Given the description of an element on the screen output the (x, y) to click on. 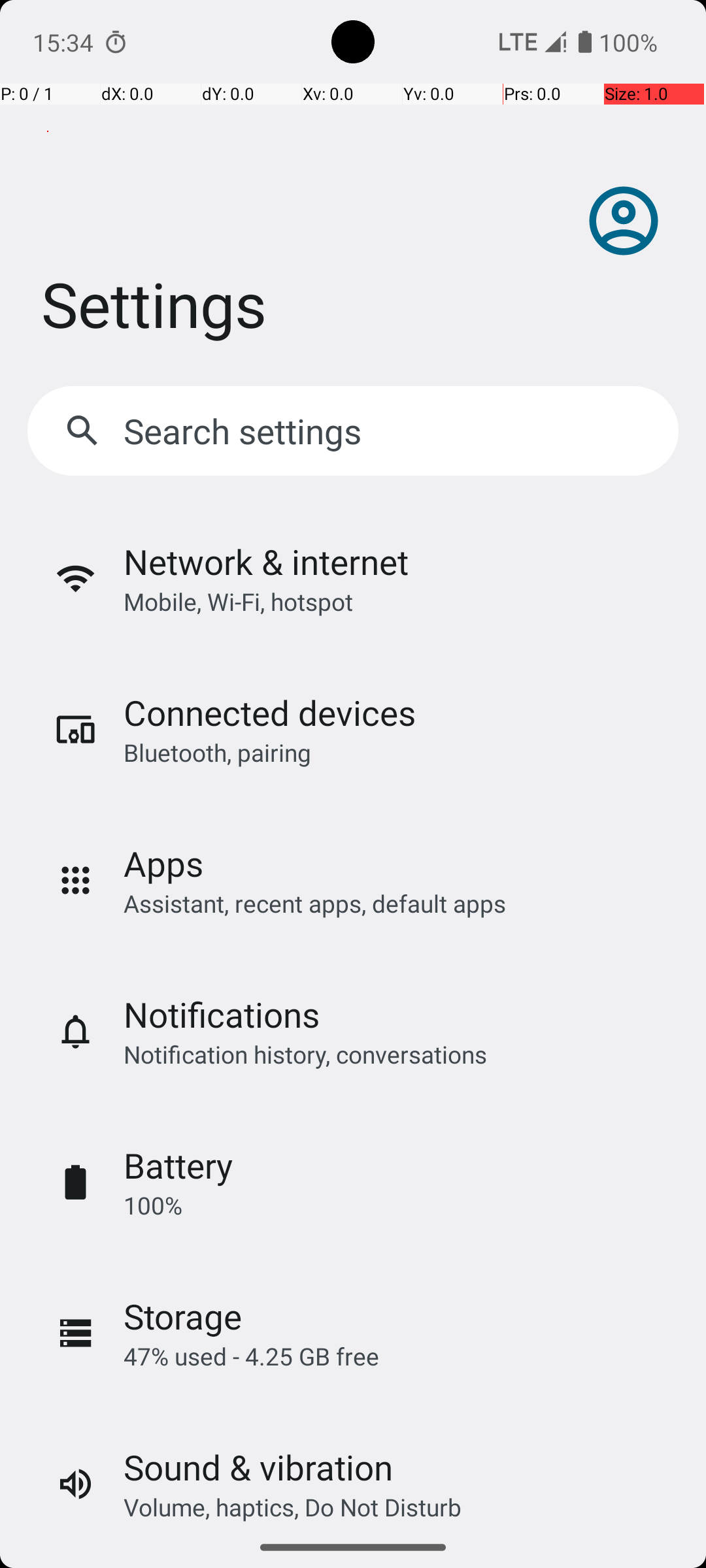
47% used - 4.25 GB free Element type: android.widget.TextView (251, 1355)
